Given the description of an element on the screen output the (x, y) to click on. 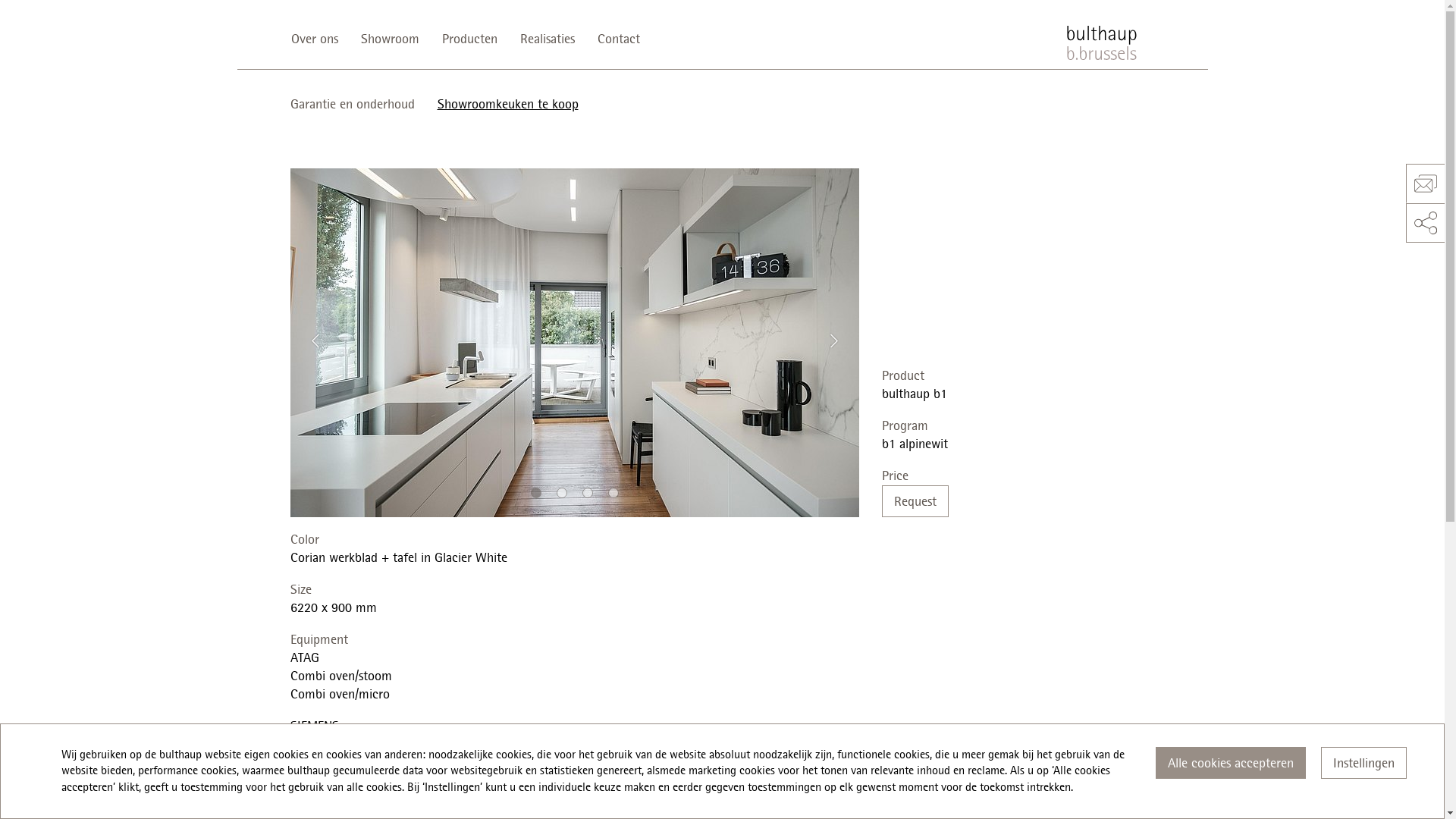
2 Element type: text (561, 492)
Previous Element type: text (315, 341)
Realisaties Element type: text (546, 38)
Contact Element type: text (617, 38)
Next Element type: text (833, 341)
Garantie en onderhoud Element type: text (357, 103)
share Element type: hover (1425, 222)
Alle cookies accepteren Element type: text (1230, 762)
Over ons Element type: text (320, 38)
Producten Element type: text (469, 38)
1 Element type: text (535, 492)
Instellingen Element type: text (1363, 762)
Alle cookies accepteren Element type: text (1230, 762)
contact Element type: hover (1425, 183)
4 Element type: text (613, 492)
Showroomkeuken te koop Element type: text (507, 103)
Showroom Element type: text (388, 38)
3 Element type: text (587, 492)
Instellingen Element type: text (1363, 762)
Request Element type: text (914, 501)
